Given the description of an element on the screen output the (x, y) to click on. 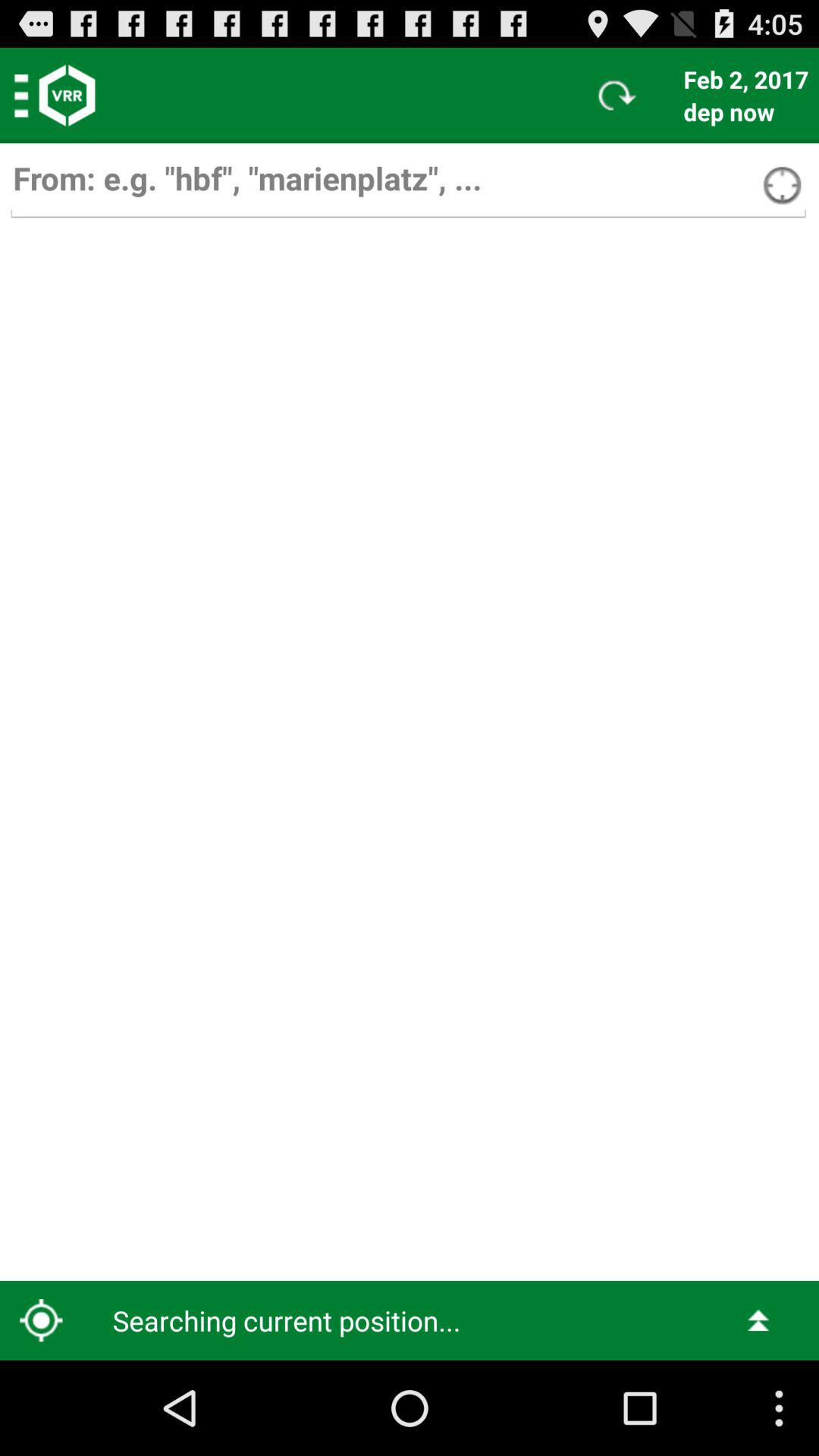
enter location (407, 185)
